Given the description of an element on the screen output the (x, y) to click on. 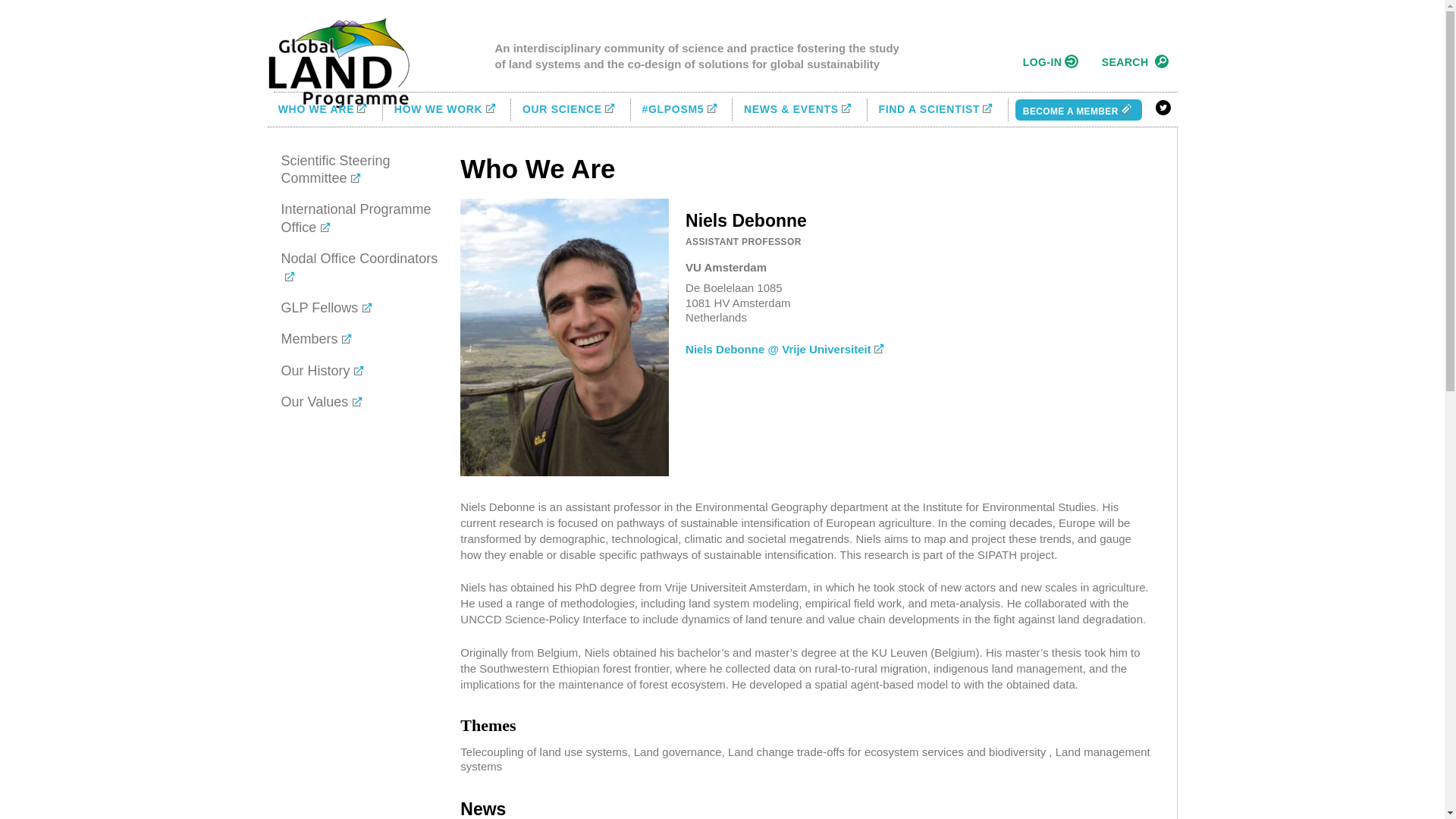
WHO WE ARE (324, 109)
FIND A SCIENTIST (938, 109)
SEARCH (1132, 61)
LOG-IN (1047, 61)
BECOME A MEMBER (1077, 109)
OUR SCIENCE (570, 109)
HOW WE WORK (446, 109)
Learn more about what we do (446, 109)
TWITTER (1163, 107)
Global Land Programme (337, 62)
